Given the description of an element on the screen output the (x, y) to click on. 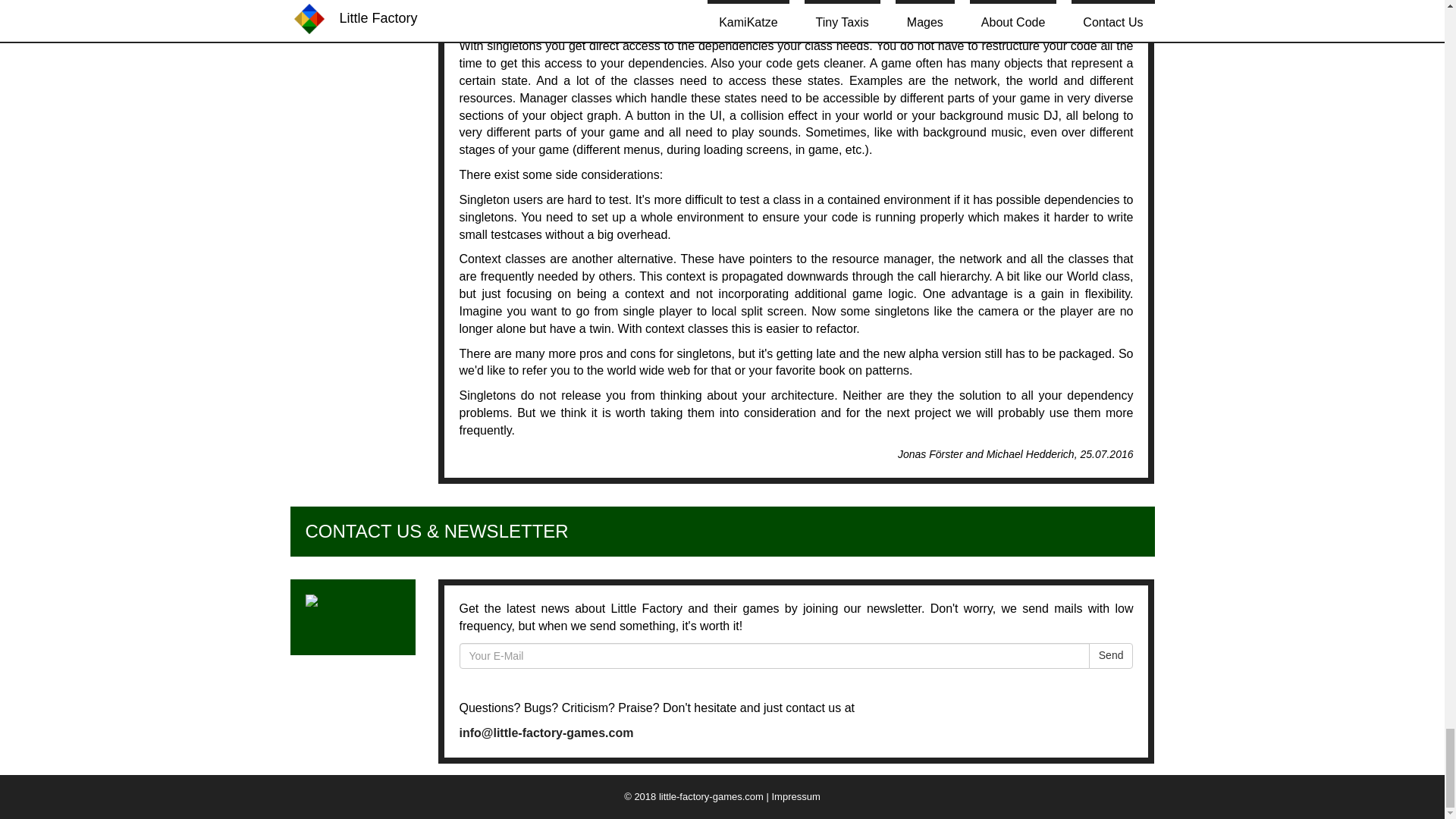
Send (1111, 655)
Impressum (796, 796)
